Given the description of an element on the screen output the (x, y) to click on. 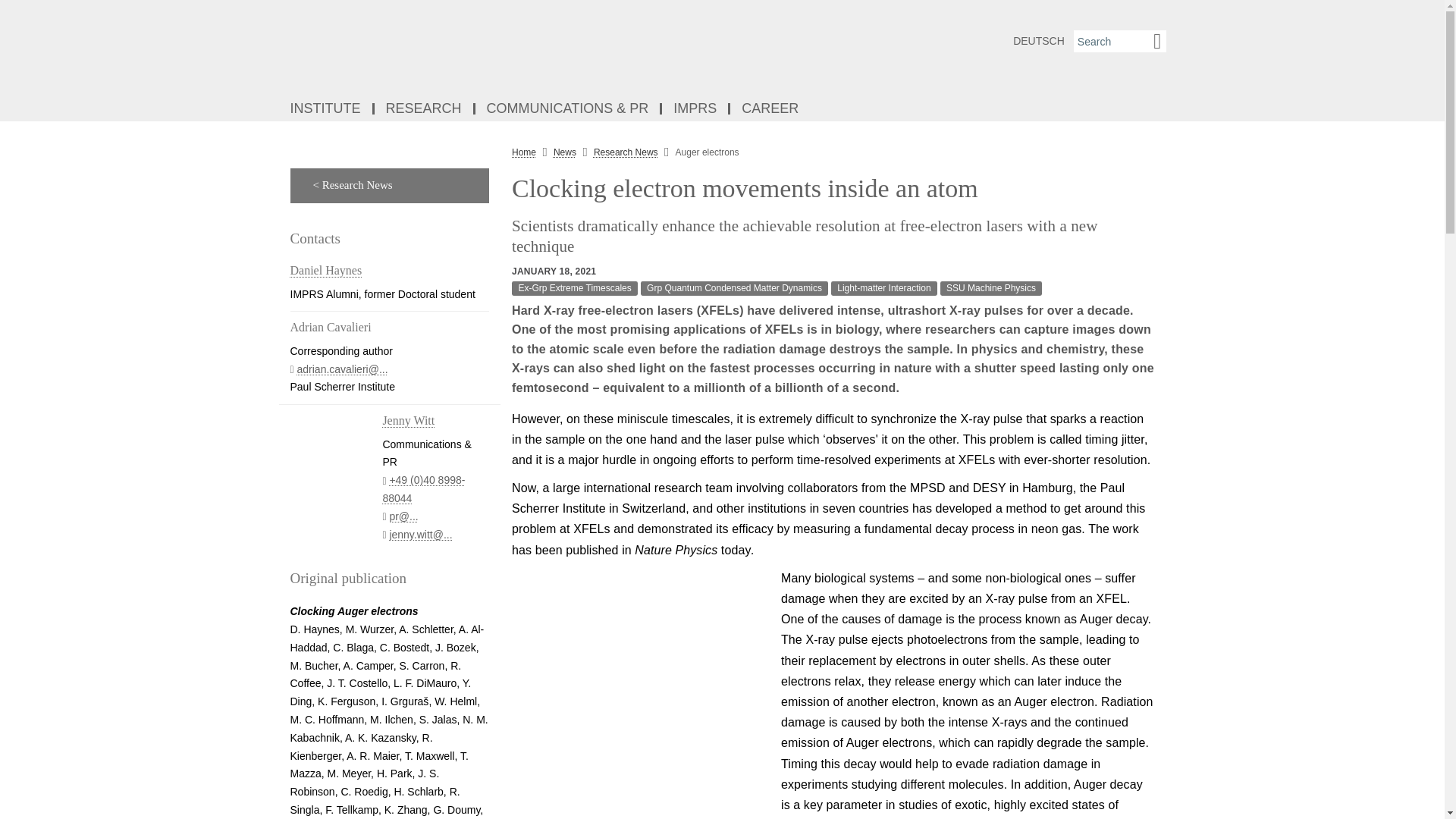
More information about Jenny Witt (407, 420)
More information about Daniel Haynes (325, 269)
Print (1177, 184)
RESEARCH (425, 108)
DEUTSCH (1038, 41)
opens zoom view (640, 693)
INSTITUTE (326, 108)
